Given the description of an element on the screen output the (x, y) to click on. 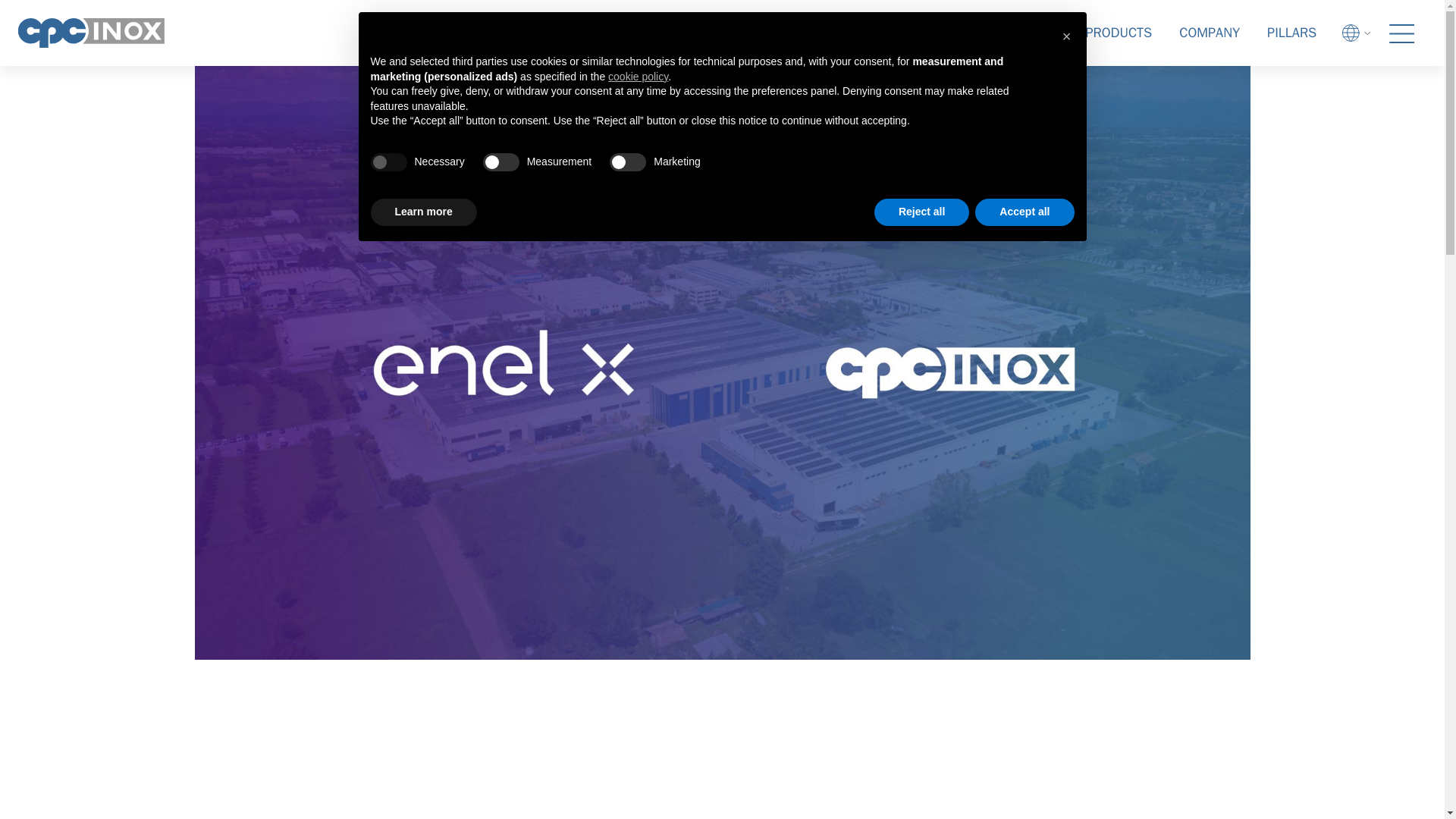
PILLARS (1291, 32)
true (387, 162)
PRODUCTS (1118, 32)
COMPANY (1209, 32)
false (501, 162)
false (628, 162)
